Given the description of an element on the screen output the (x, y) to click on. 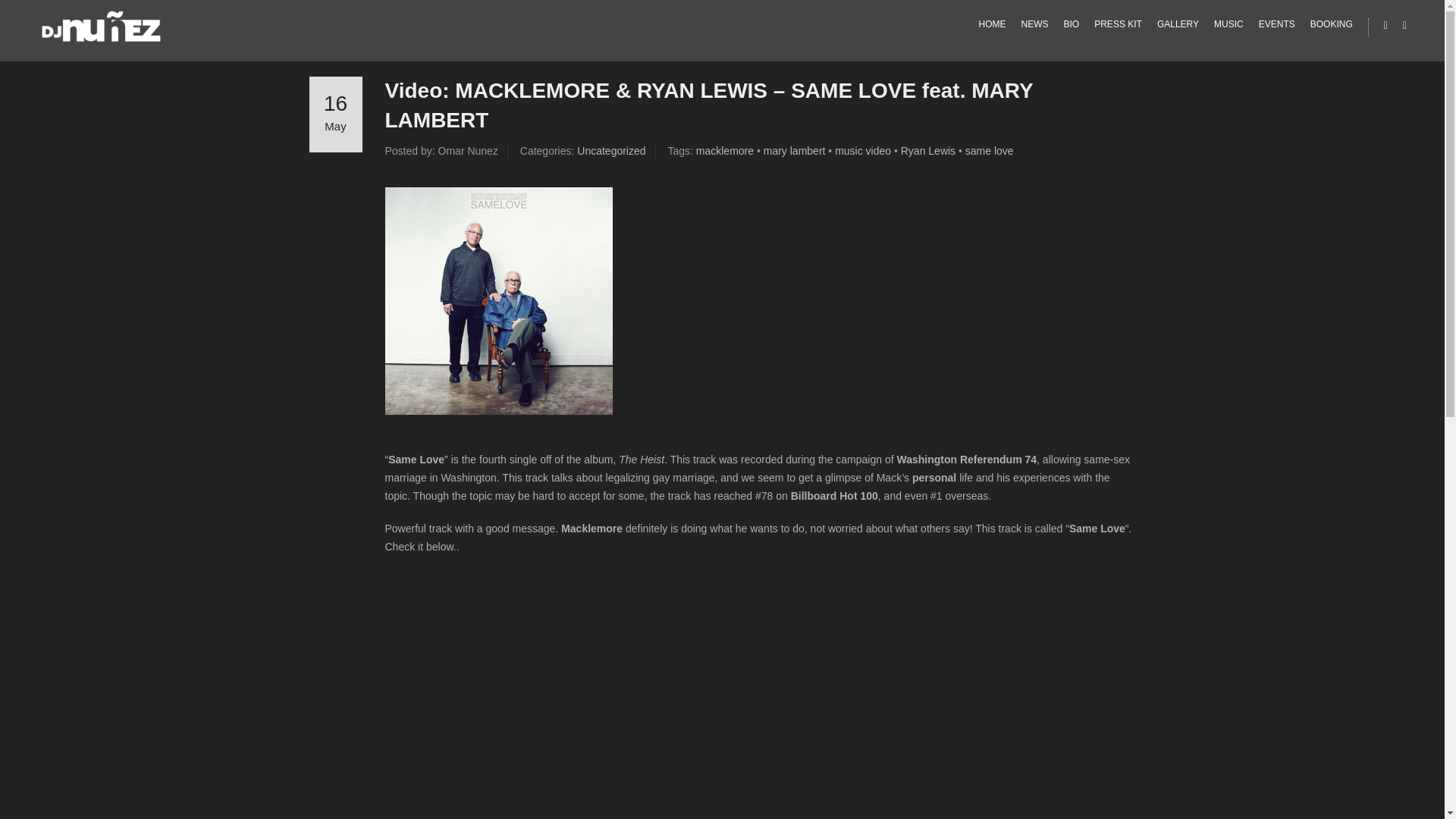
PRESS KIT (1118, 24)
Ryan Lewis (928, 150)
BOOKING (1331, 24)
MUSIC (1228, 24)
same love (989, 150)
macklemore (724, 150)
Uncategorized (610, 150)
mary lambert (793, 150)
EVENTS (1276, 24)
GALLERY (1178, 24)
music video (862, 150)
